Given the description of an element on the screen output the (x, y) to click on. 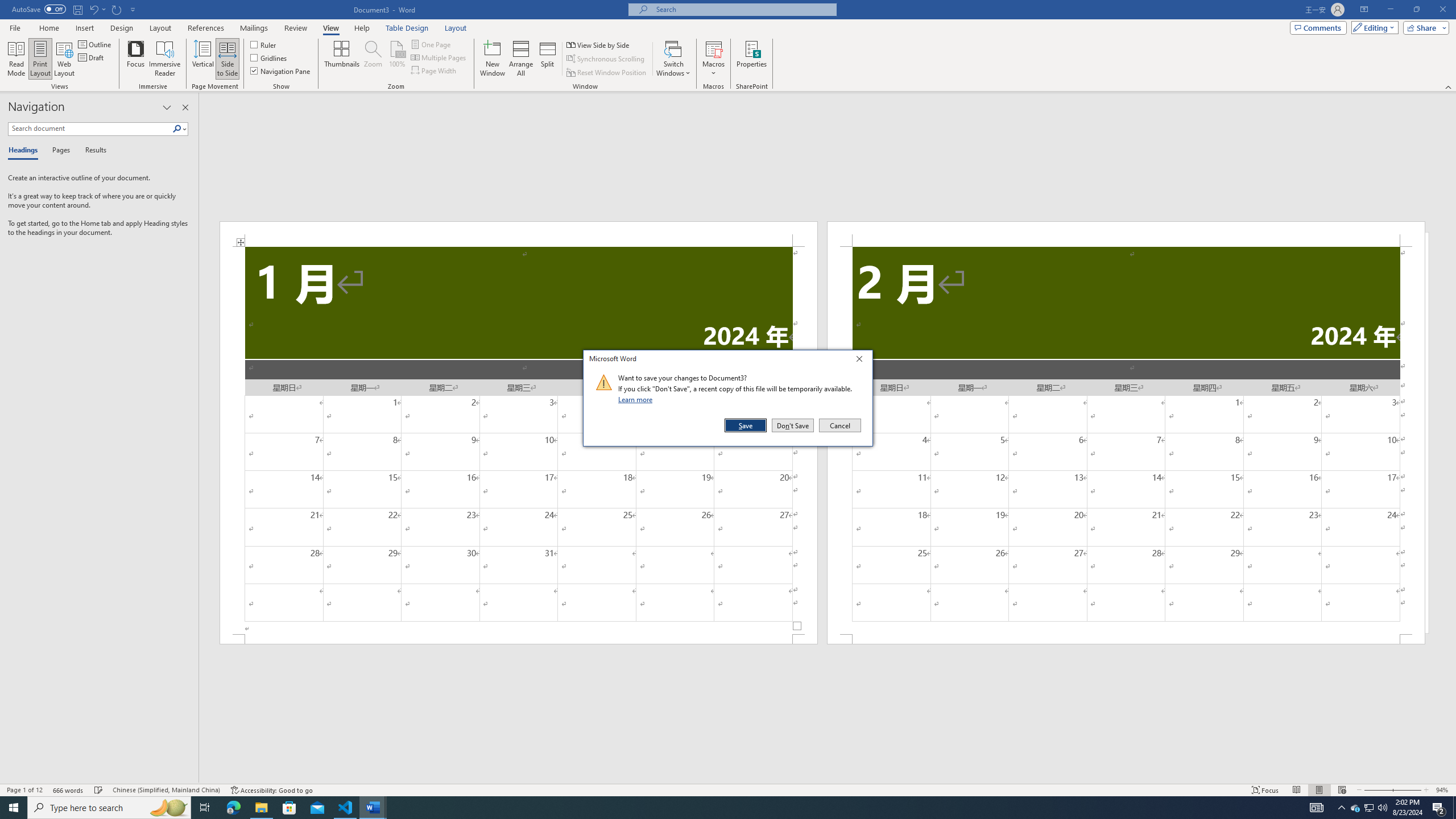
Gridlines (269, 56)
Page Number Page 1 of 12 (24, 790)
Properties (751, 58)
View Side by Side (598, 44)
